Given the description of an element on the screen output the (x, y) to click on. 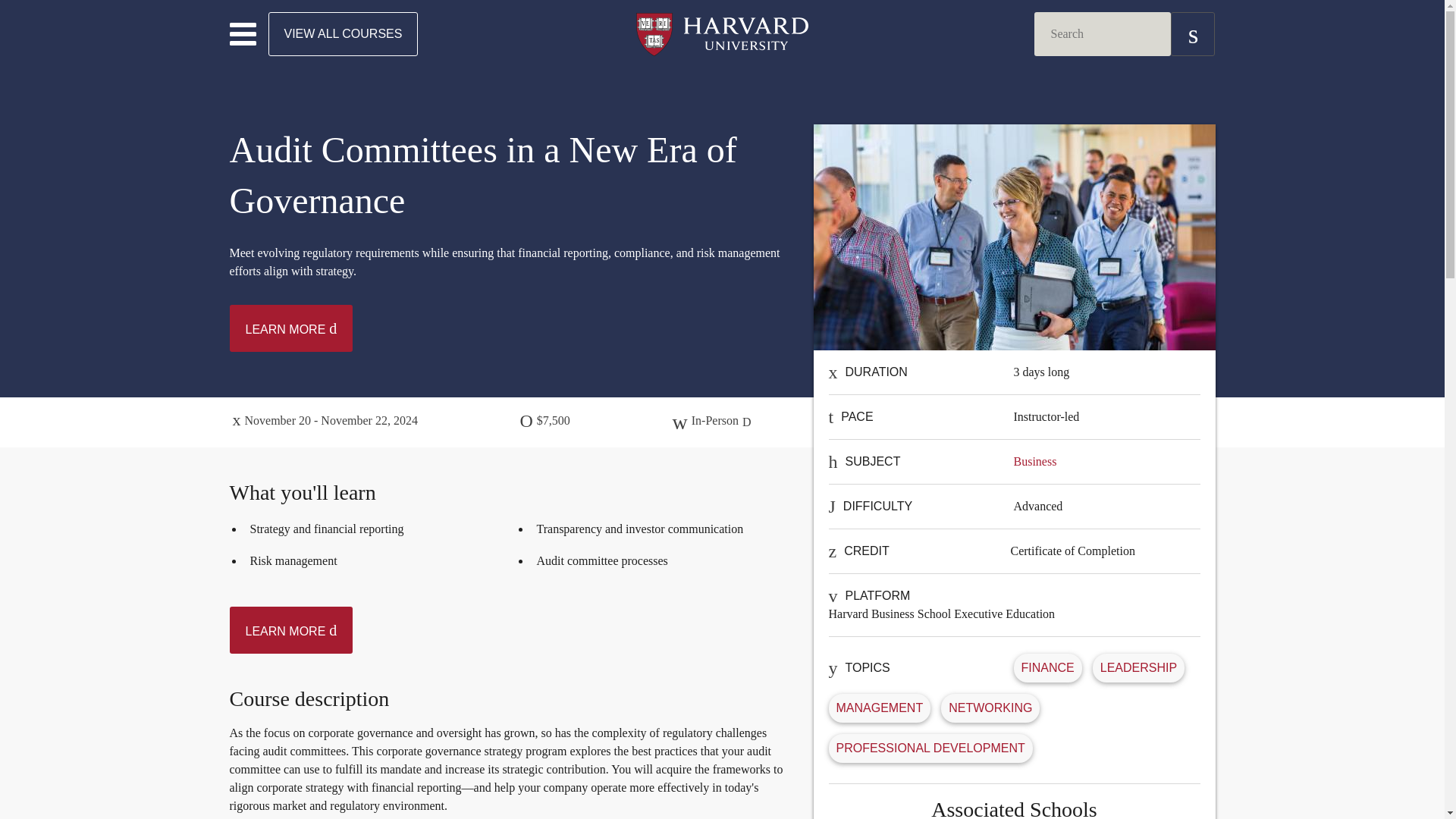
PROFESSIONAL DEVELOPMENT (930, 748)
VIEW ALL COURSES (343, 34)
Apply (1192, 34)
Apply (1192, 34)
FINANCE (1047, 667)
LEARN MORE (290, 328)
LEADERSHIP (1138, 667)
MANAGEMENT (879, 707)
NETWORKING (990, 707)
LEARN MORE (290, 629)
Business (1035, 461)
